Given the description of an element on the screen output the (x, y) to click on. 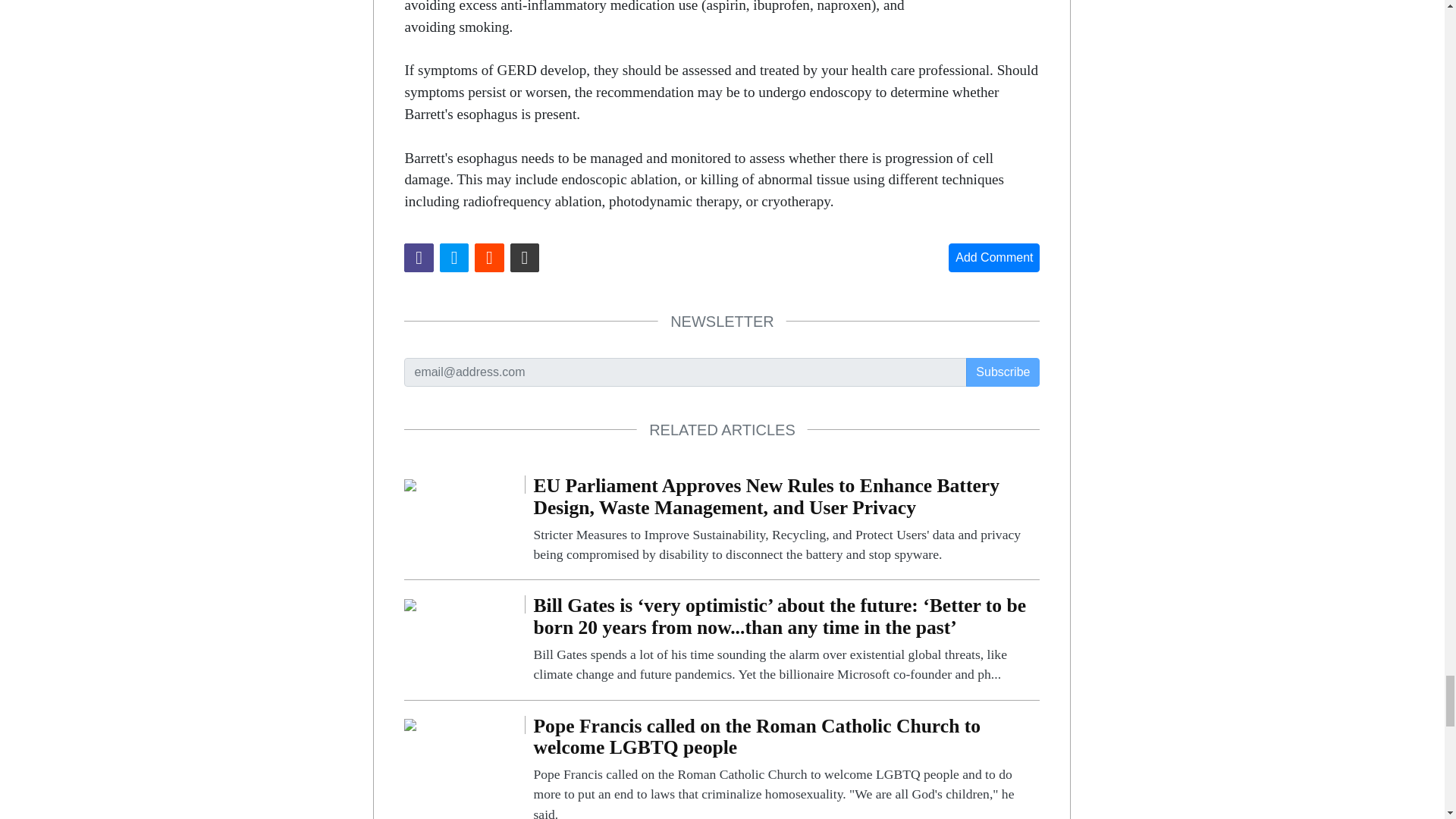
Add Comment (994, 257)
Subscribe (1002, 371)
